Given the description of an element on the screen output the (x, y) to click on. 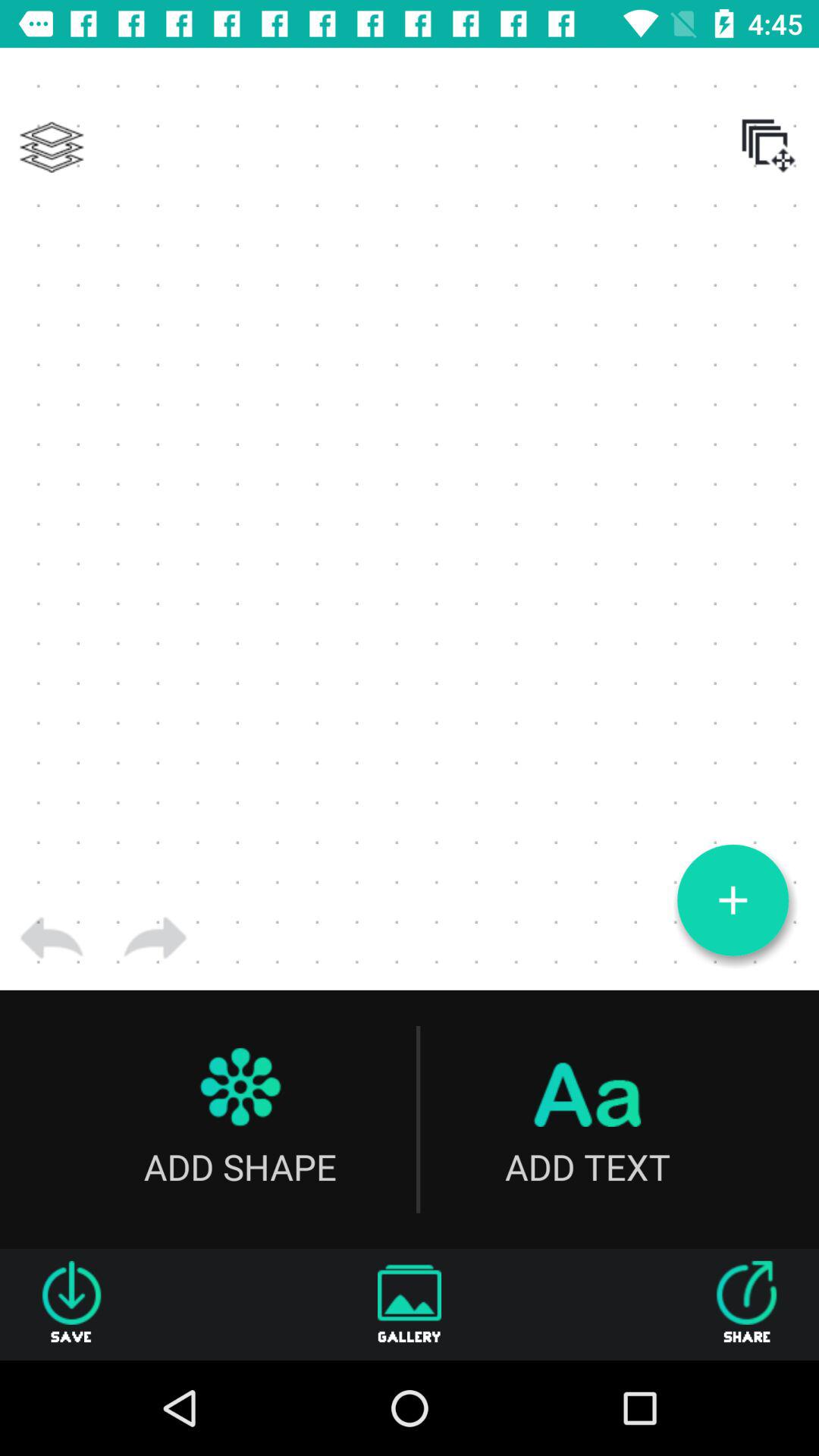
scroll until share (747, 1304)
